Given the description of an element on the screen output the (x, y) to click on. 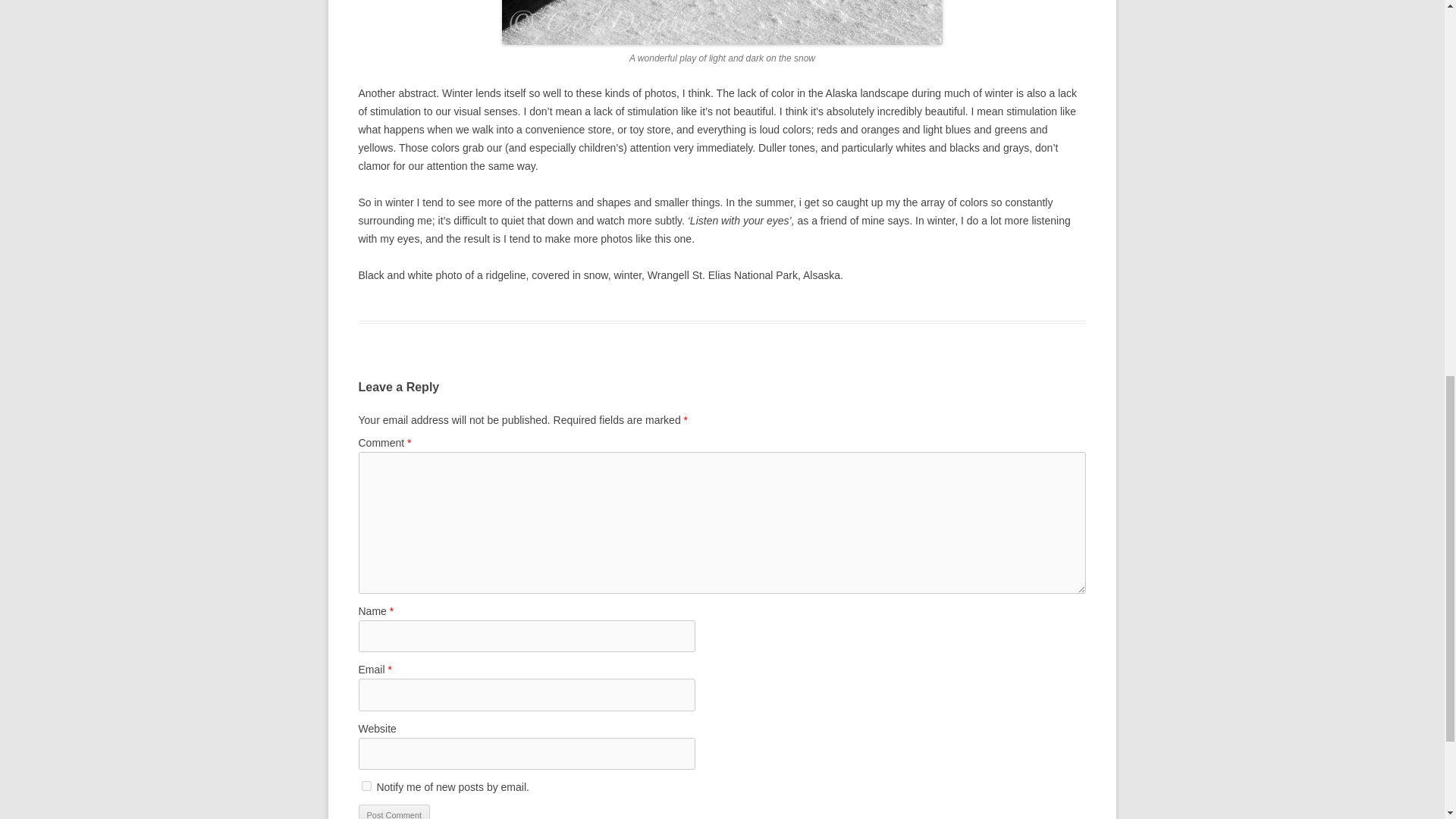
Post Comment (393, 811)
Post Comment (393, 811)
subscribe (366, 786)
